Given the description of an element on the screen output the (x, y) to click on. 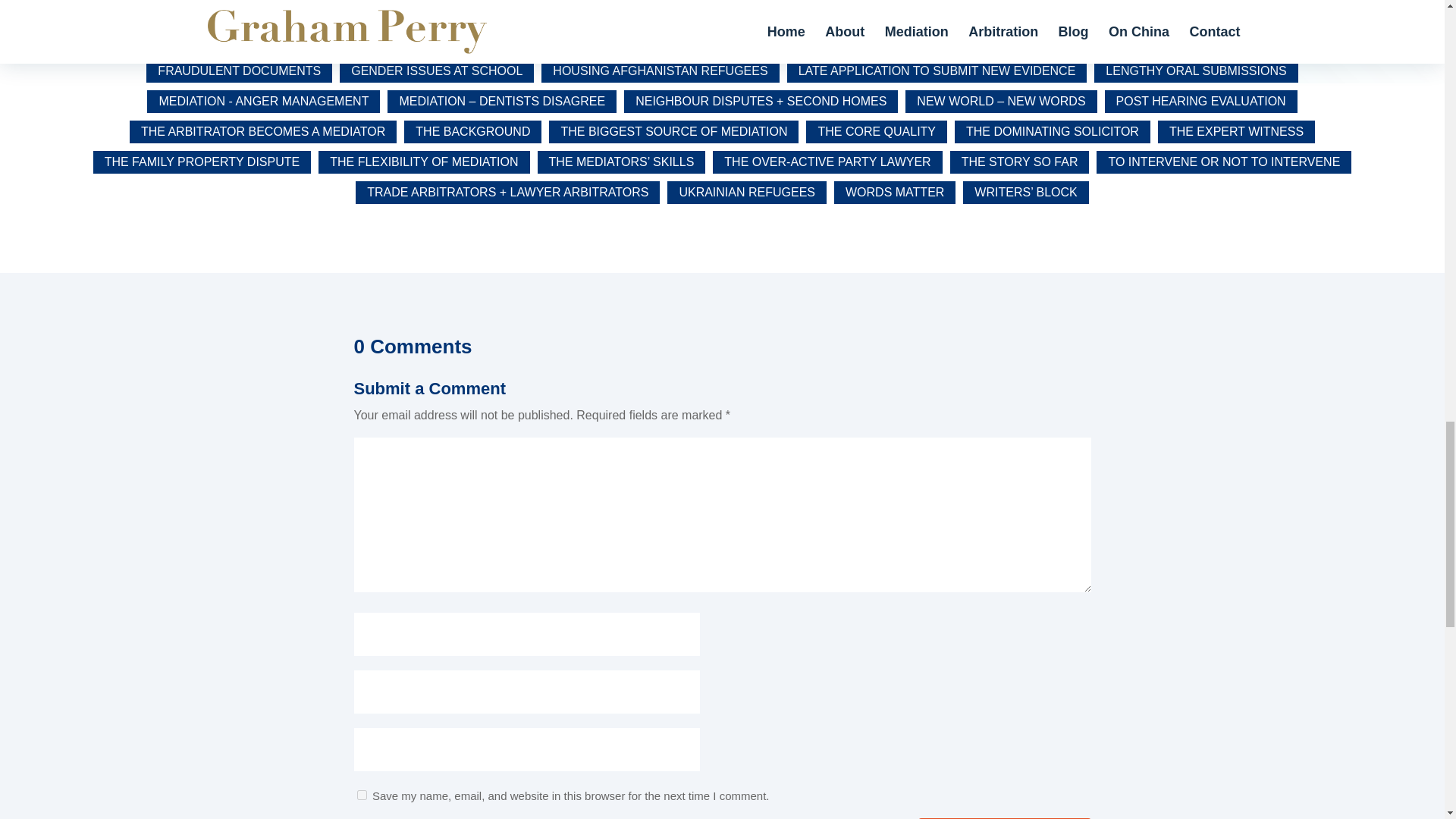
yes (361, 795)
DETERMINED NEUTRALITY (680, 40)
ARBITRATORS FEES AGAIN (1228, 11)
AN ANXIOUS NEW ARBITRATOR (227, 11)
AN ARBITRATOR STUMBLES (433, 11)
AWKWARD QUESTIONS (194, 40)
ANGER MANAGEMENT (613, 11)
